Given the description of an element on the screen output the (x, y) to click on. 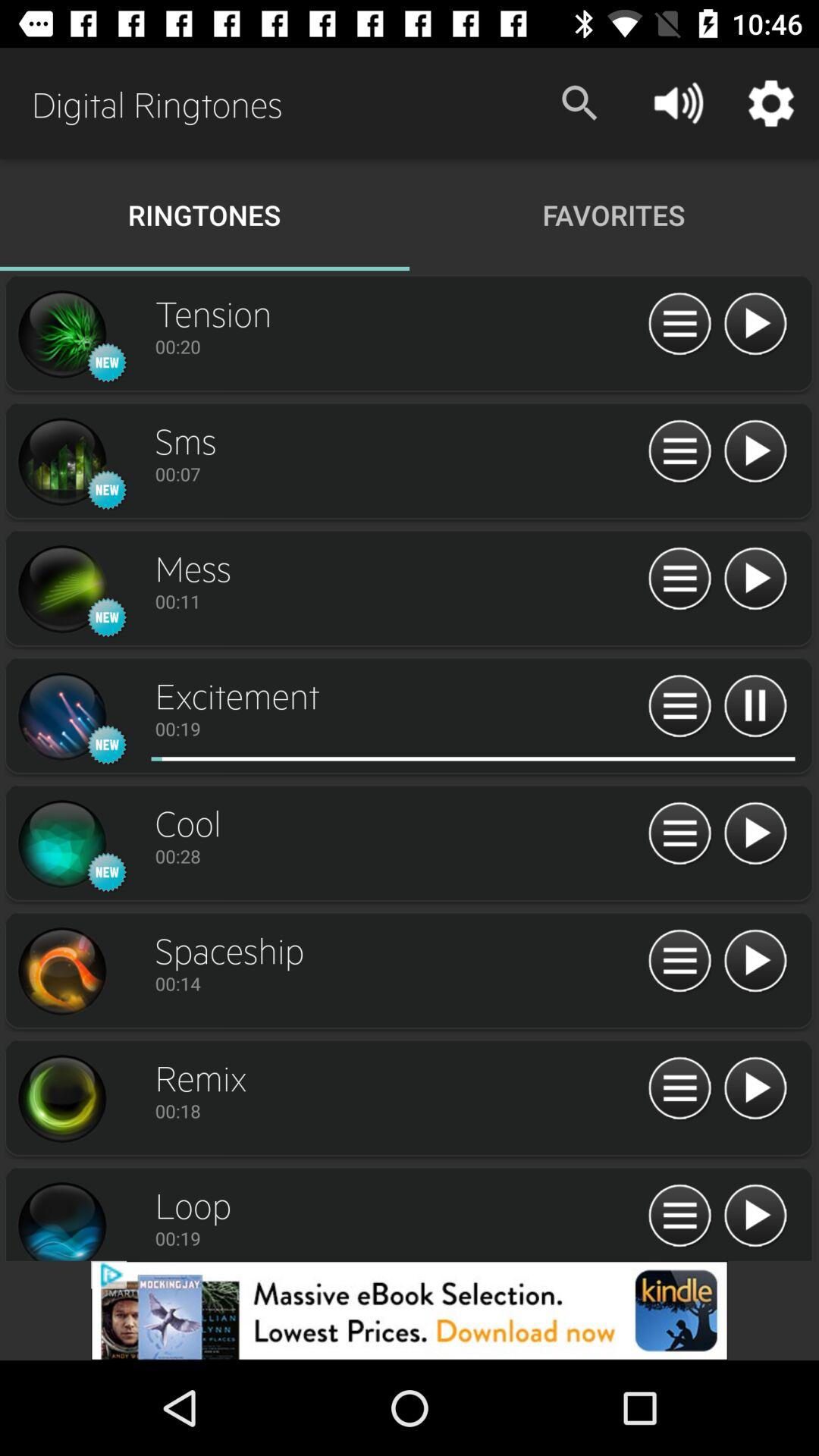
play (755, 706)
